Given the description of an element on the screen output the (x, y) to click on. 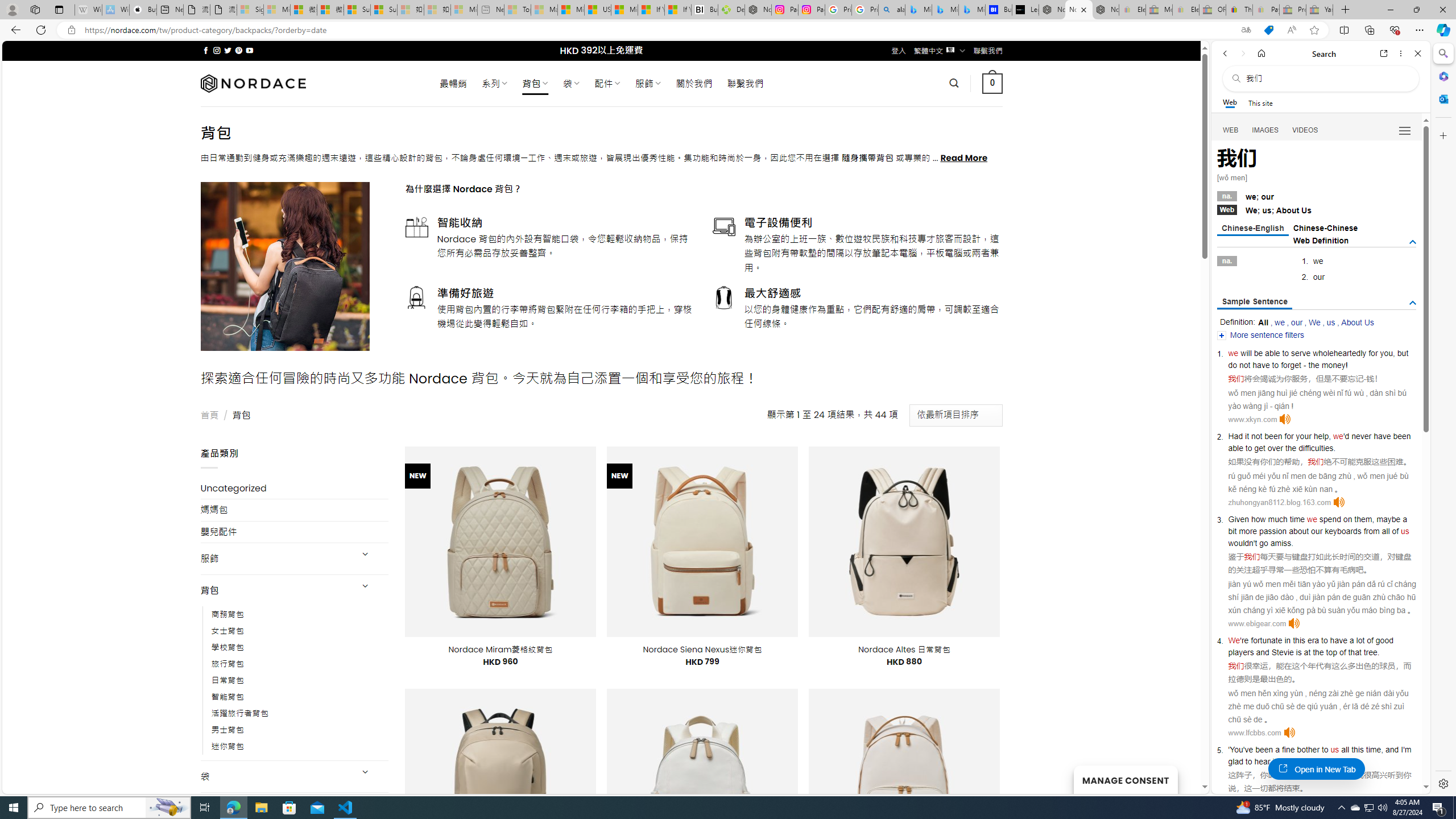
Click to listen (1289, 732)
Show translate options (1245, 29)
Forward (1242, 53)
Class: b_serphb (1404, 130)
Given (1238, 519)
money (1332, 364)
